Given the description of an element on the screen output the (x, y) to click on. 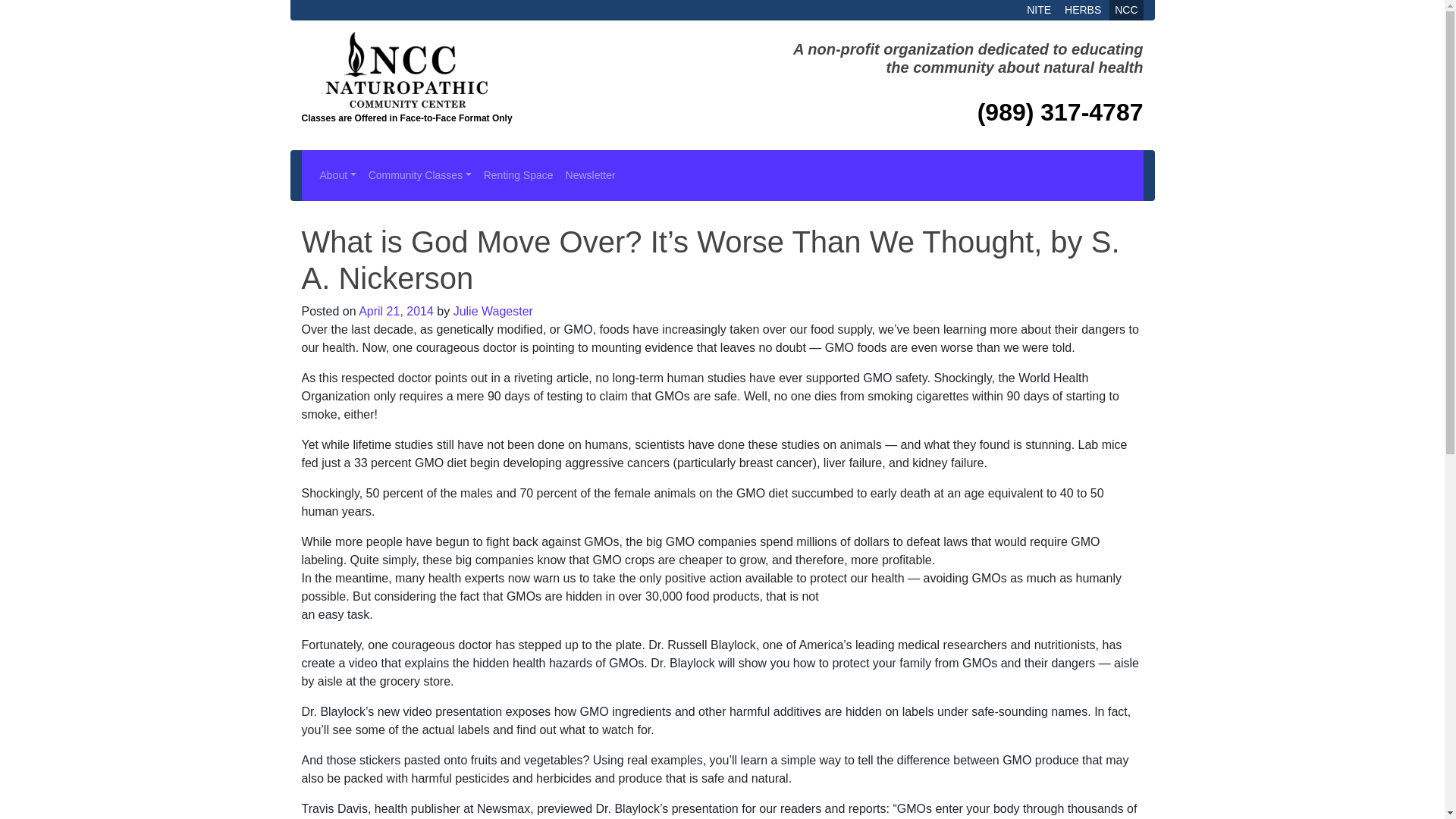
April 21, 2014 (395, 310)
Classes are Offered in Face-to-Face Format Only (406, 93)
HERBS (1082, 9)
Julie Wagester (492, 310)
Community Classes (419, 175)
Newsletter (590, 175)
Renting Space (518, 175)
Newsletter (590, 175)
About (338, 175)
